Given the description of an element on the screen output the (x, y) to click on. 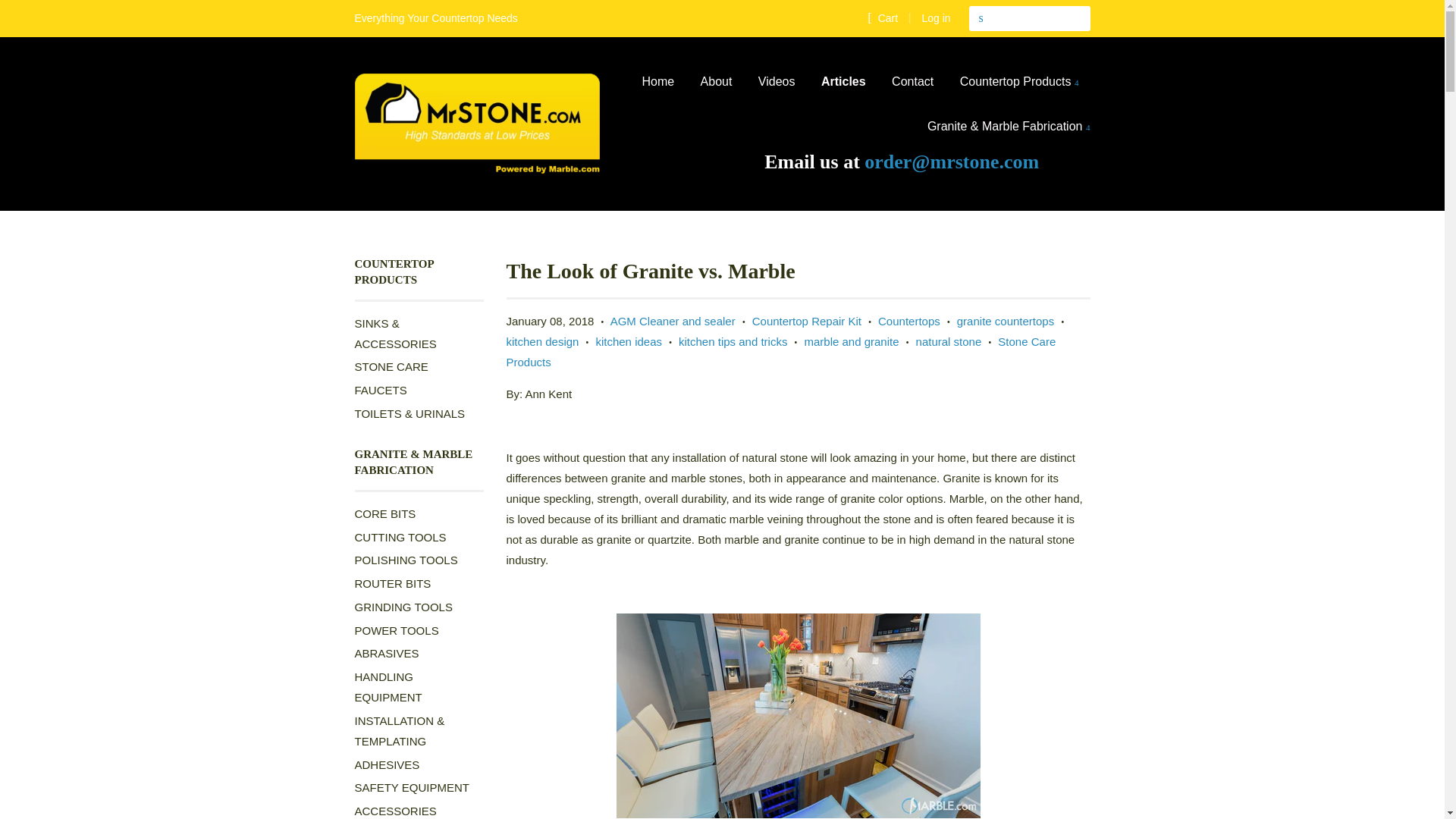
Log in (935, 18)
Cart (882, 17)
Videos (776, 81)
Countertop Products (1019, 81)
Home (663, 81)
Contact (912, 81)
Articles (843, 81)
Search (980, 18)
About (716, 81)
